Given the description of an element on the screen output the (x, y) to click on. 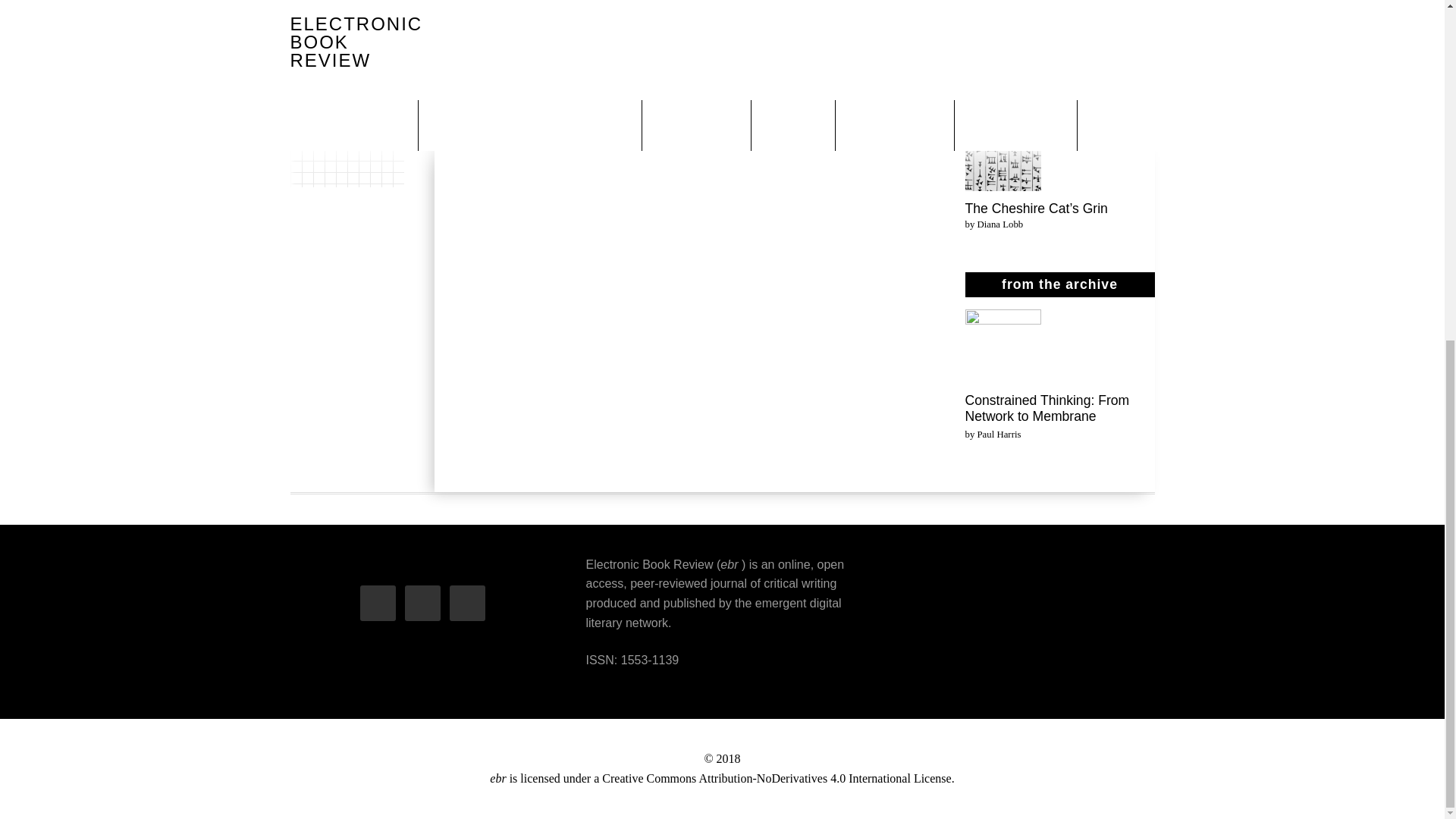
Constrained Thinking: From Network to Membrane (1002, 349)
Constrained Thinking: From Network to Membrane (1046, 408)
